Given the description of an element on the screen output the (x, y) to click on. 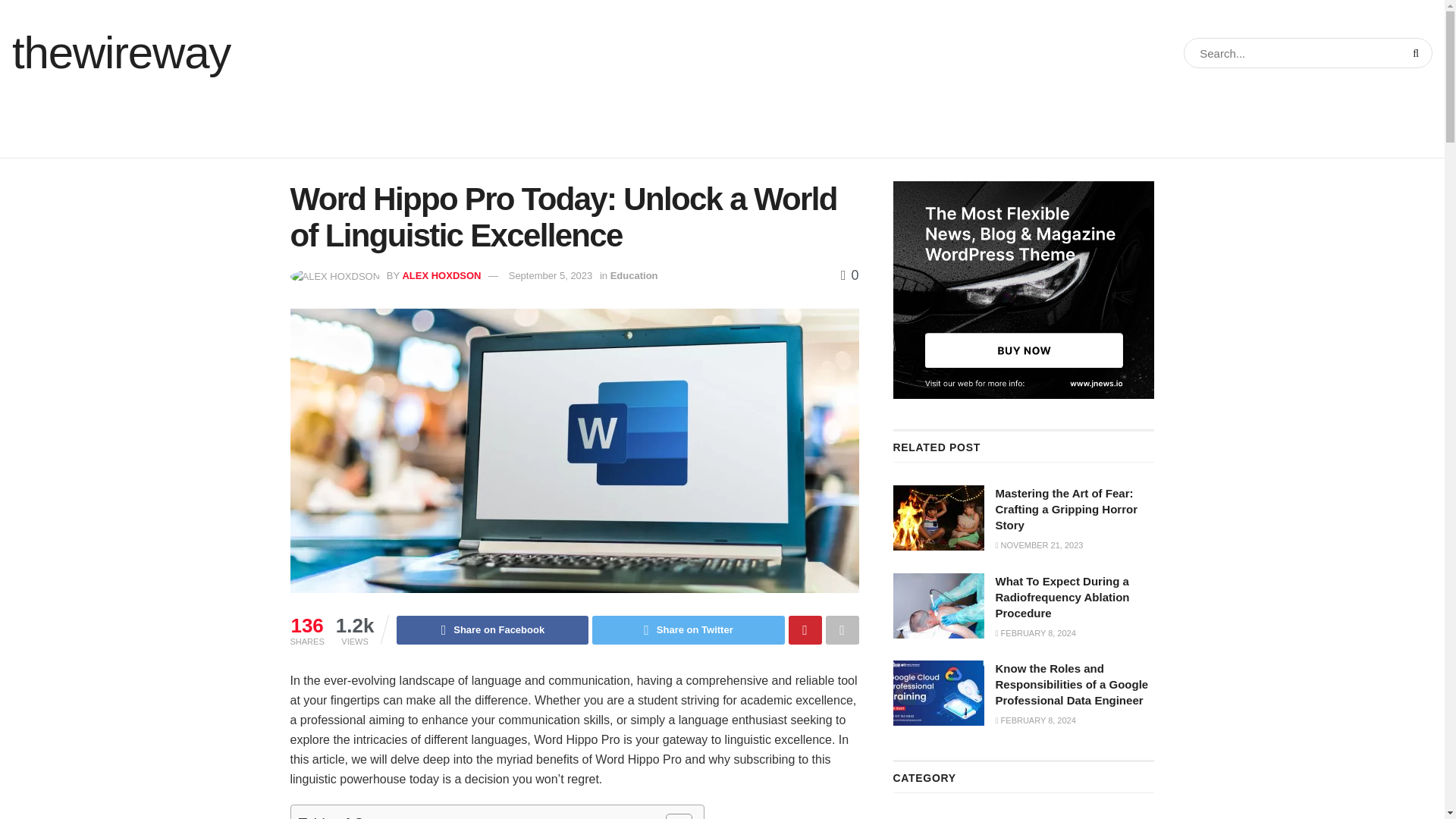
Education (634, 275)
Share on Twitter (688, 629)
thewireway (120, 53)
ALEX HOXDSON (440, 275)
September 5, 2023 (550, 275)
0 (850, 274)
Share on Facebook (492, 629)
